Given the description of an element on the screen output the (x, y) to click on. 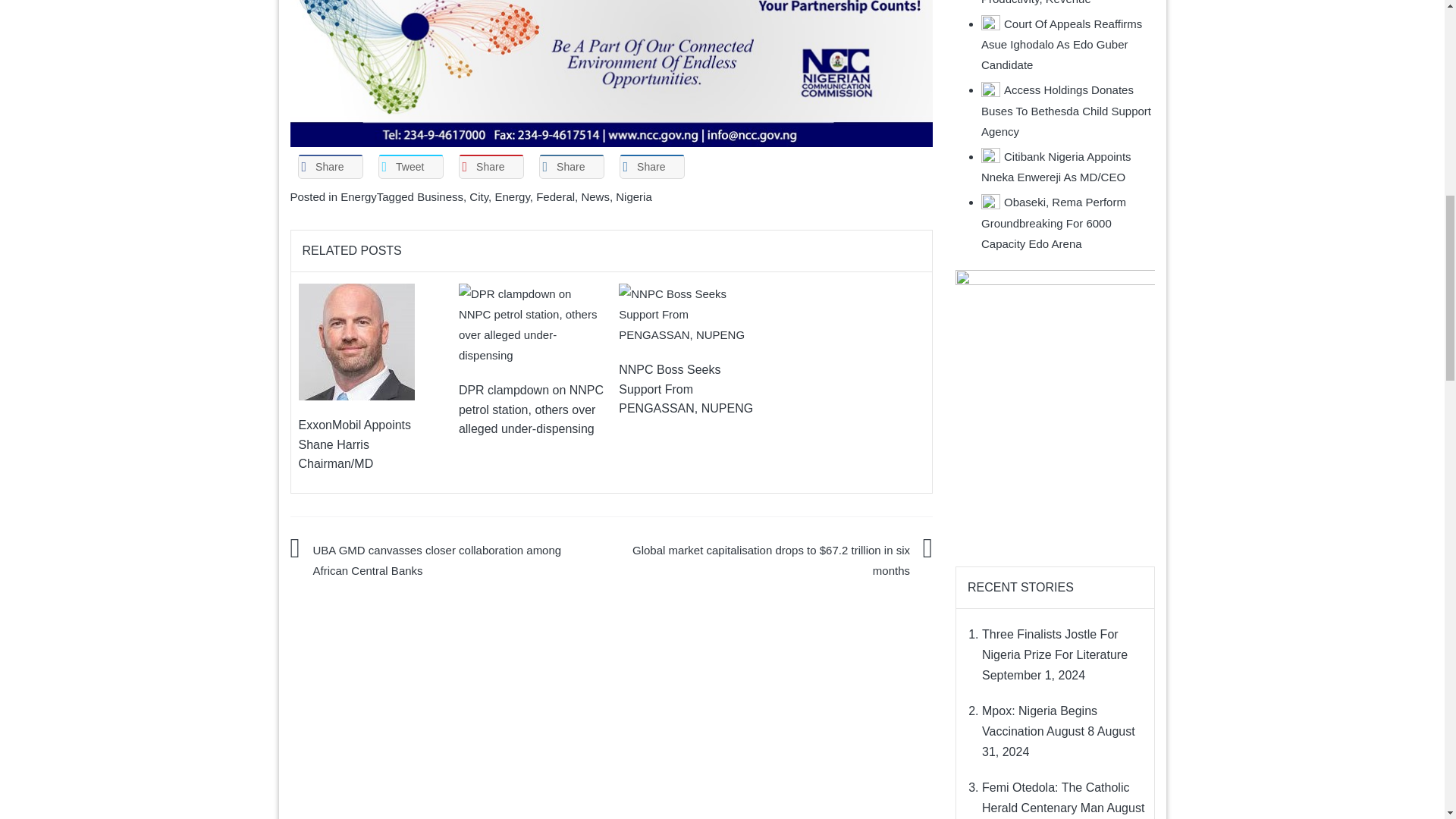
Share on Pinterest (490, 166)
Share on Facebook (329, 166)
NNPC Boss Seeks Support From PENGASSAN, NUPENG (690, 313)
Share on Digg (651, 166)
NNPC Boss Seeks Support From PENGASSAN, NUPENG (690, 313)
Share on LinkedIn (571, 166)
Share on Twitter (409, 166)
